Given the description of an element on the screen output the (x, y) to click on. 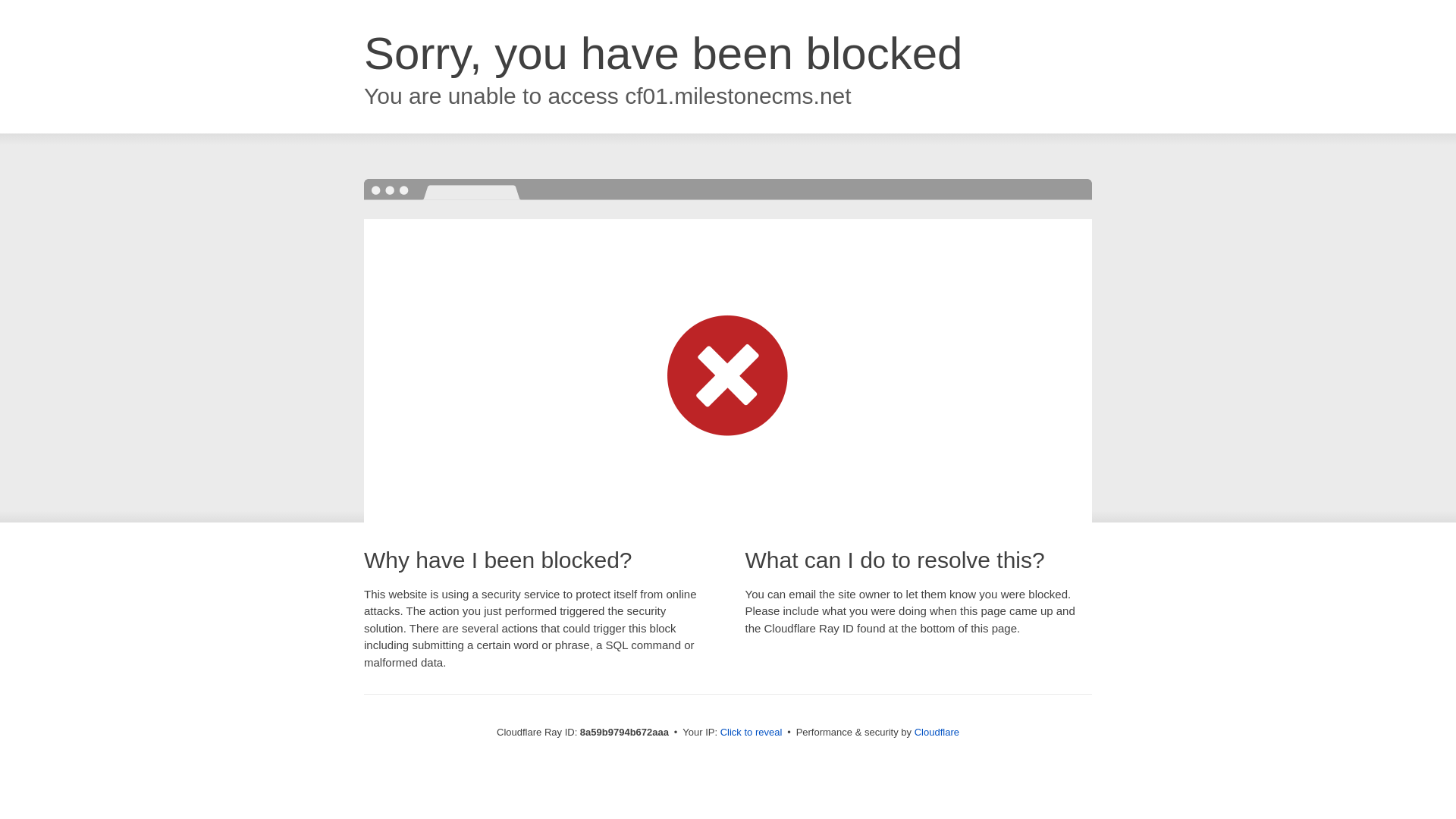
Click to reveal (751, 732)
Cloudflare (936, 731)
